Given the description of an element on the screen output the (x, y) to click on. 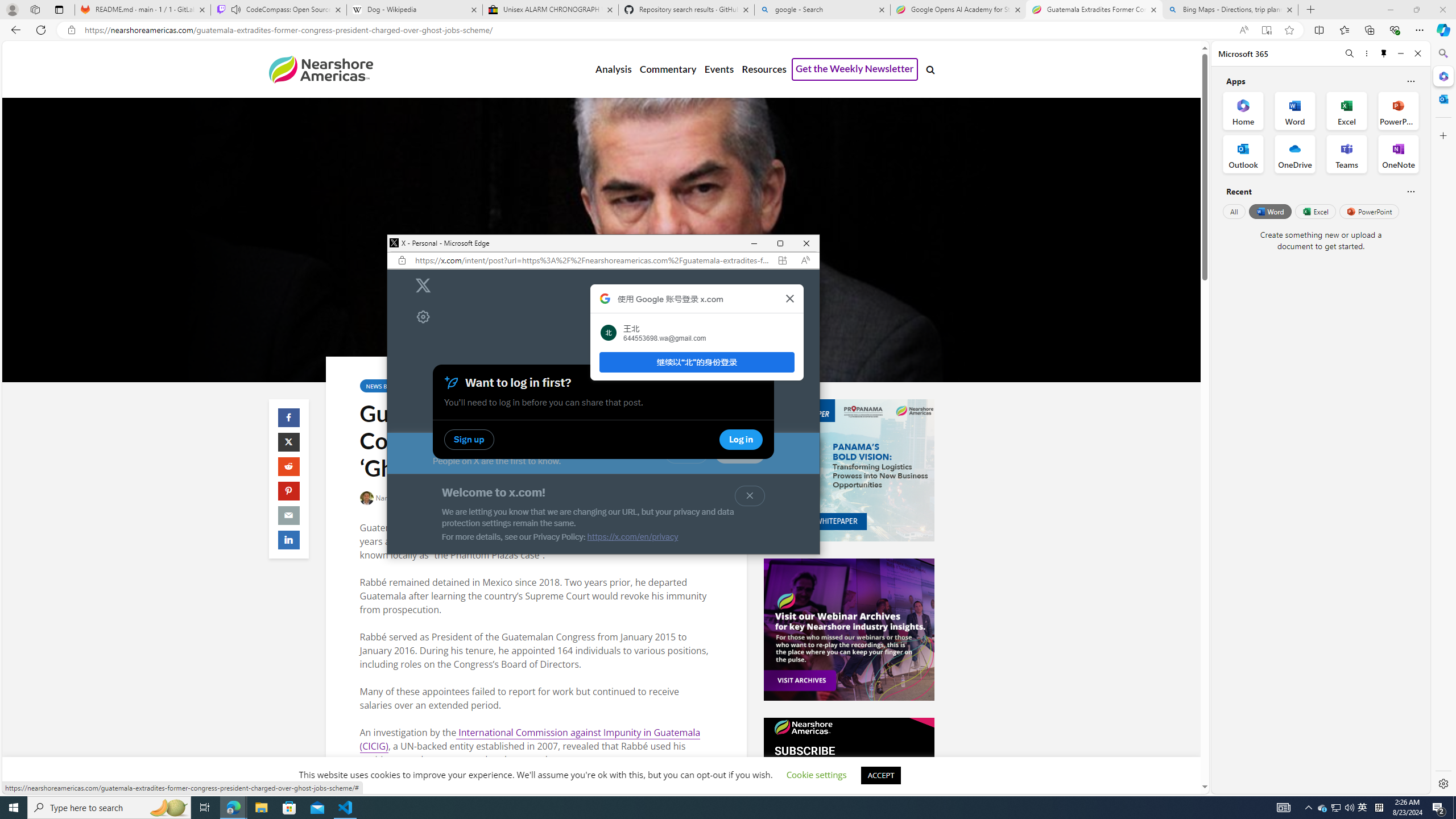
Dog - Wikipedia (414, 9)
Google Opens AI Academy for Startups - Nearshore Americas (957, 9)
Resources (763, 69)
Sign up (739, 453)
Events-Banner-Ad.jpg (848, 629)
Commentary (667, 69)
Events (718, 69)
